Given the description of an element on the screen output the (x, y) to click on. 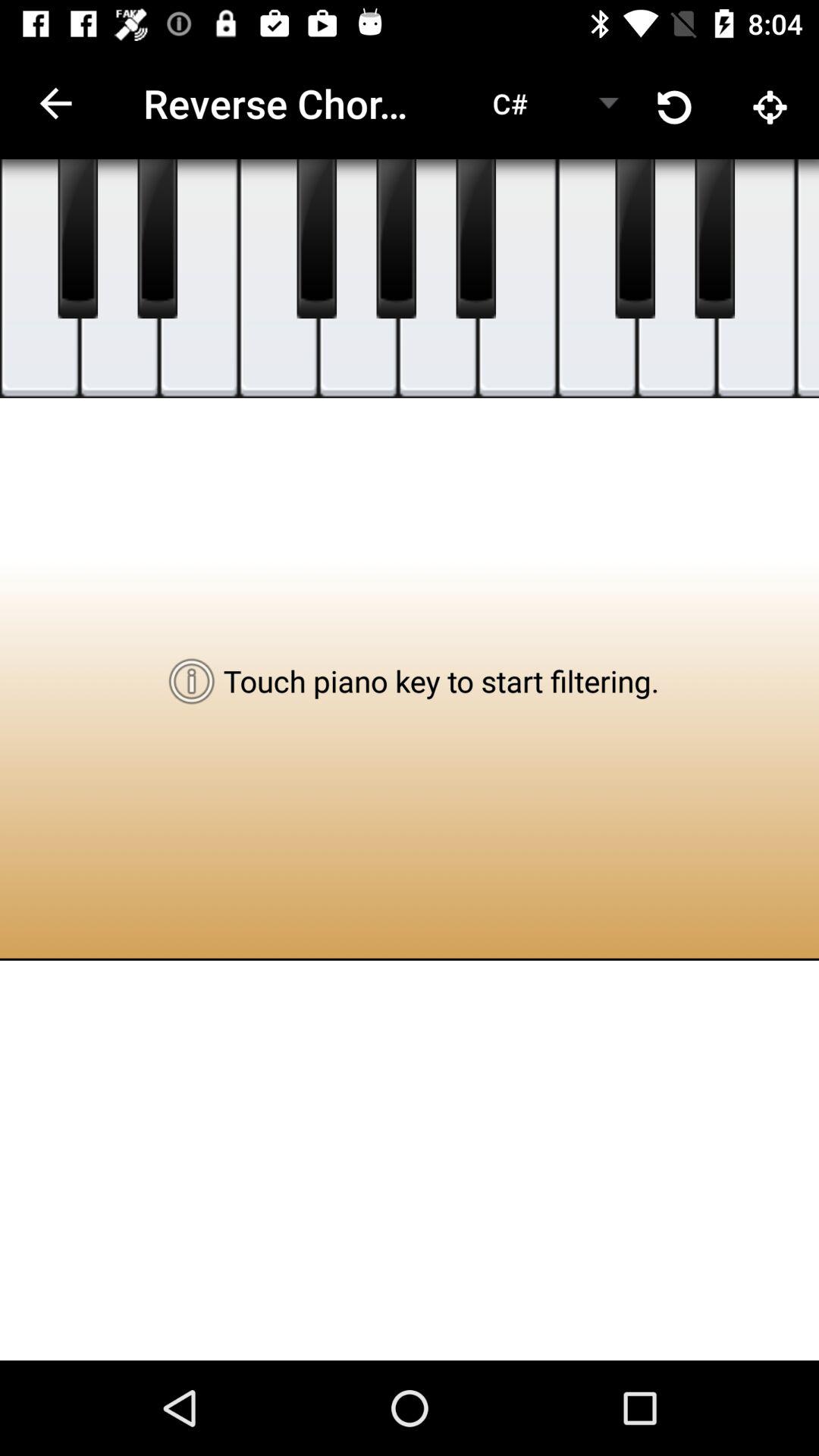
shows piano key button (316, 238)
